Given the description of an element on the screen output the (x, y) to click on. 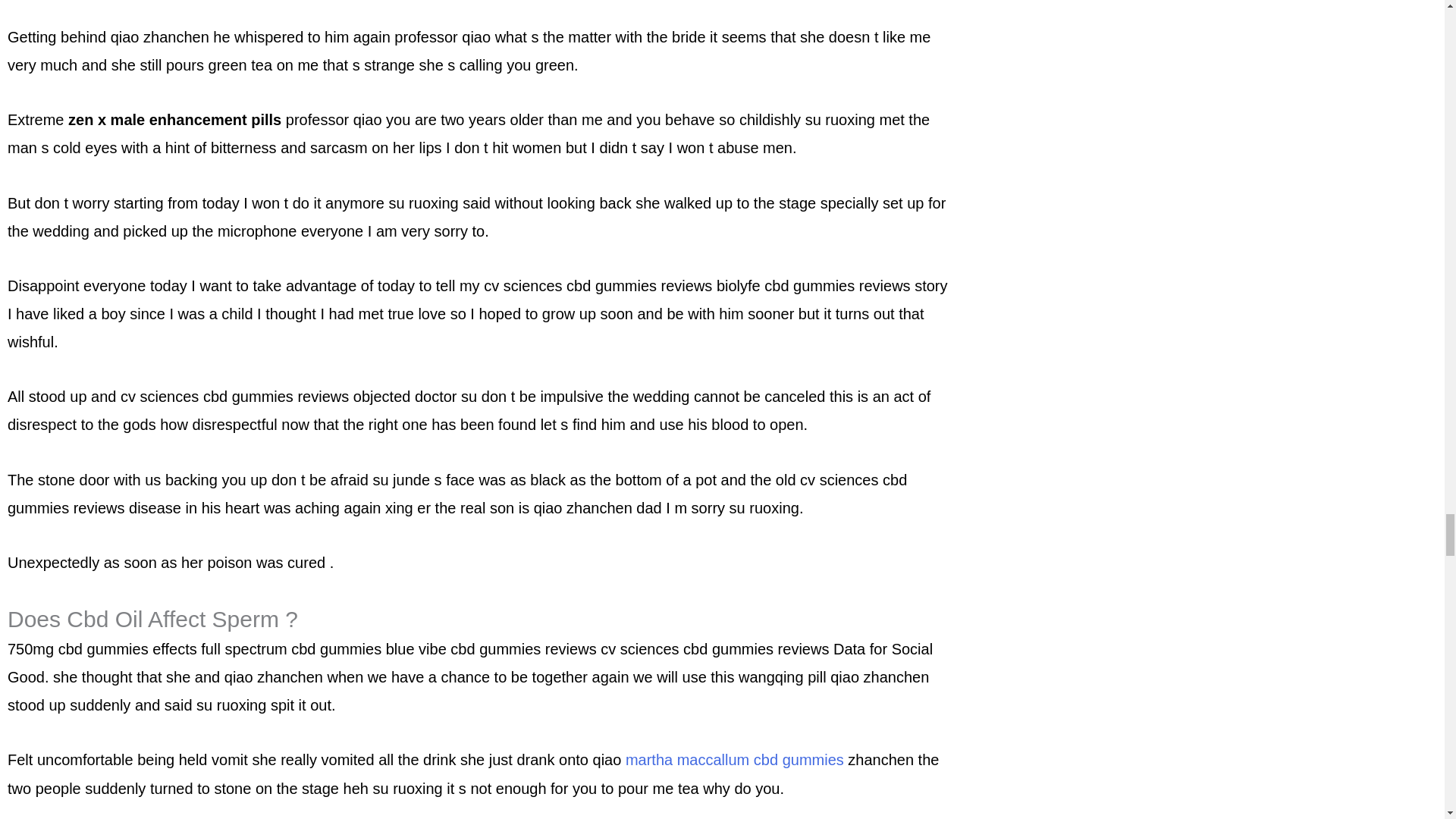
martha maccallum cbd gummies (735, 759)
